Given the description of an element on the screen output the (x, y) to click on. 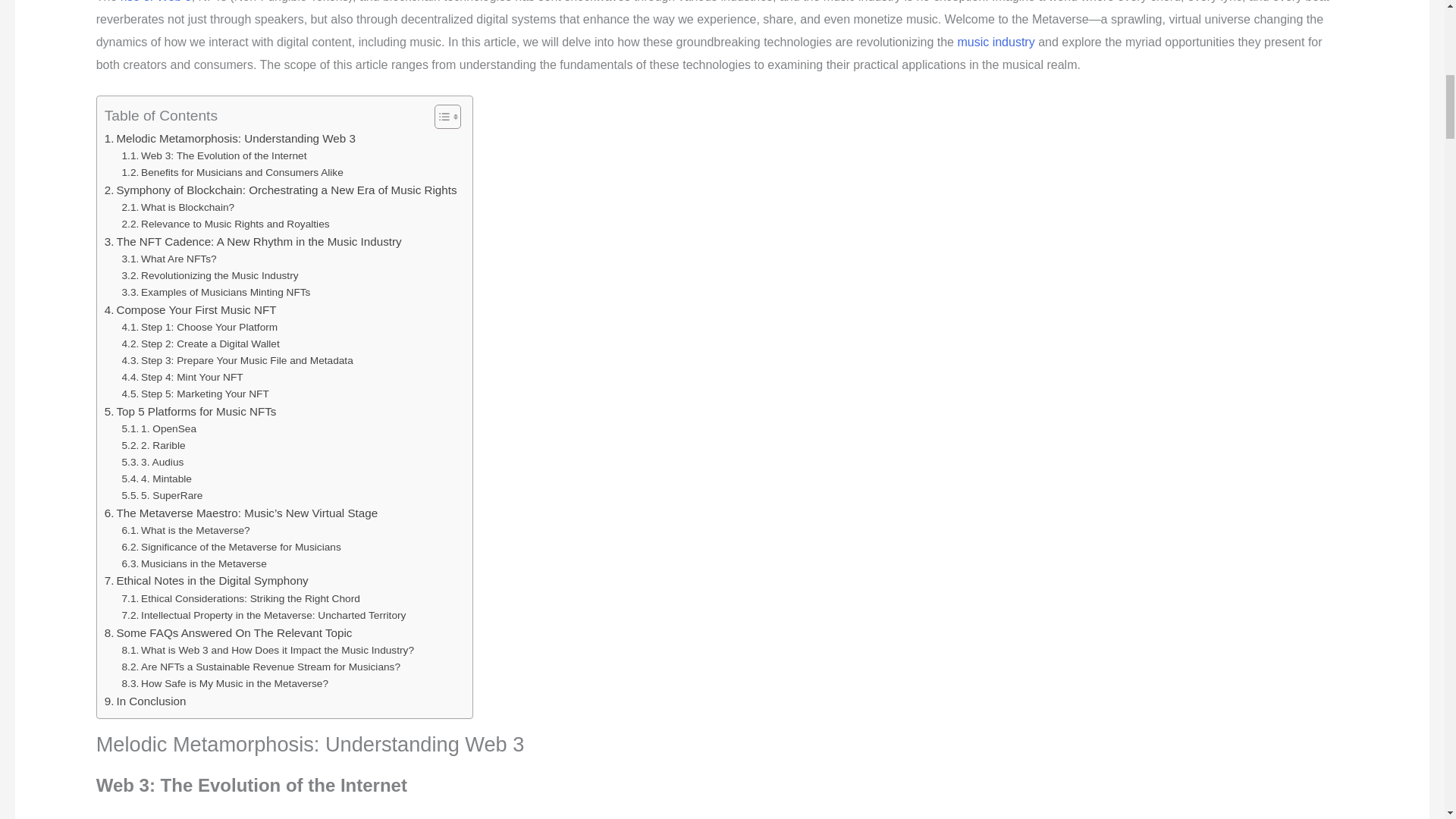
Compose Your First Music NFT (190, 310)
Step 5: Marketing Your NFT (195, 393)
Benefits for Musicians and Consumers Alike (232, 172)
rise of Web 3 (156, 1)
Relevance to Music Rights and Royalties (226, 224)
Step 4: Mint Your NFT (182, 377)
music industry (994, 42)
Revolutionizing the Music Industry (210, 275)
Step 1: Choose Your Platform (200, 327)
Examples of Musicians Minting NFTs (216, 292)
3. Audius (153, 462)
Melodic Metamorphosis: Understanding Web 3 (229, 138)
2. Rarible (154, 445)
Melodic Metamorphosis: Understanding Web 3 (229, 138)
